Given the description of an element on the screen output the (x, y) to click on. 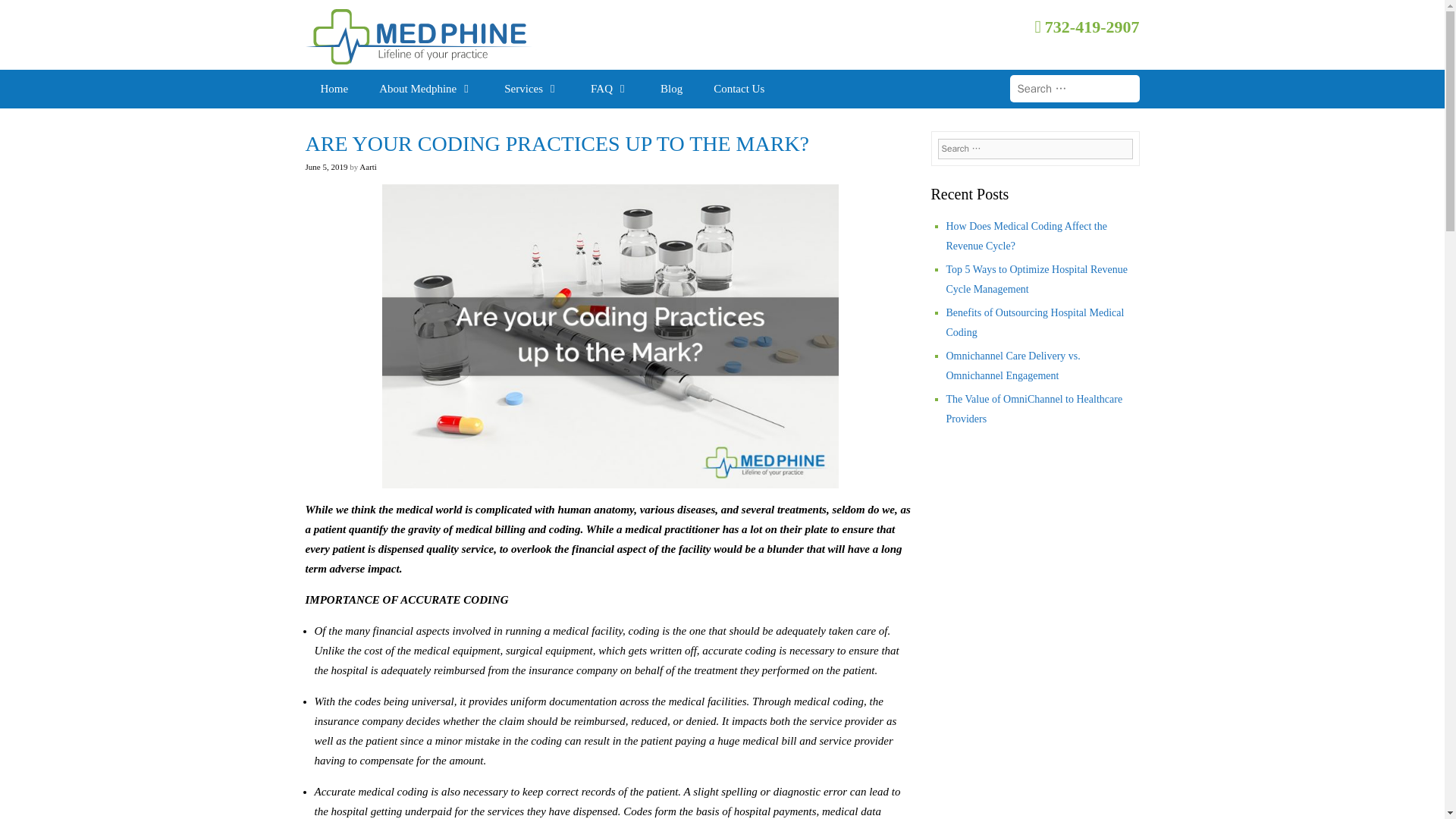
Services (532, 88)
Search for: (1034, 148)
Home (333, 88)
5:14 am (325, 166)
Contact Us (738, 88)
Blog (671, 88)
732-419-2907 (1085, 26)
FAQ (610, 88)
View all posts by Aarti (368, 166)
About Medphine (425, 88)
Search for: (1075, 88)
